Given the description of an element on the screen output the (x, y) to click on. 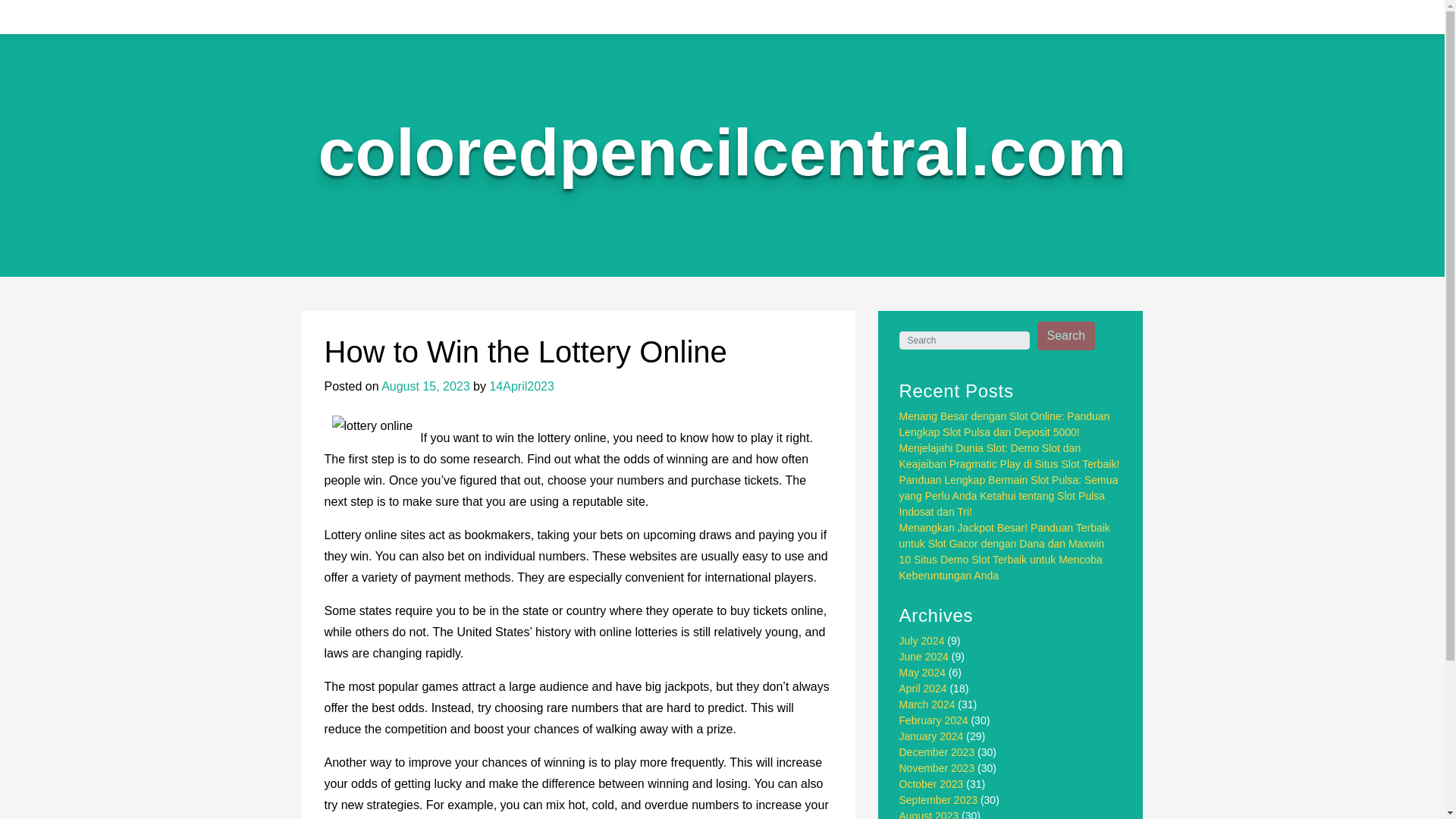
February 2024 (933, 720)
May 2024 (921, 672)
10 Situs Demo Slot Terbaik untuk Mencoba Keberuntungan Anda (1000, 567)
November 2023 (937, 767)
August 15, 2023 (425, 386)
July 2024 (921, 640)
Search (1066, 335)
January 2024 (931, 736)
September 2023 (938, 799)
14April2023 (521, 386)
March 2024 (927, 704)
